Given the description of an element on the screen output the (x, y) to click on. 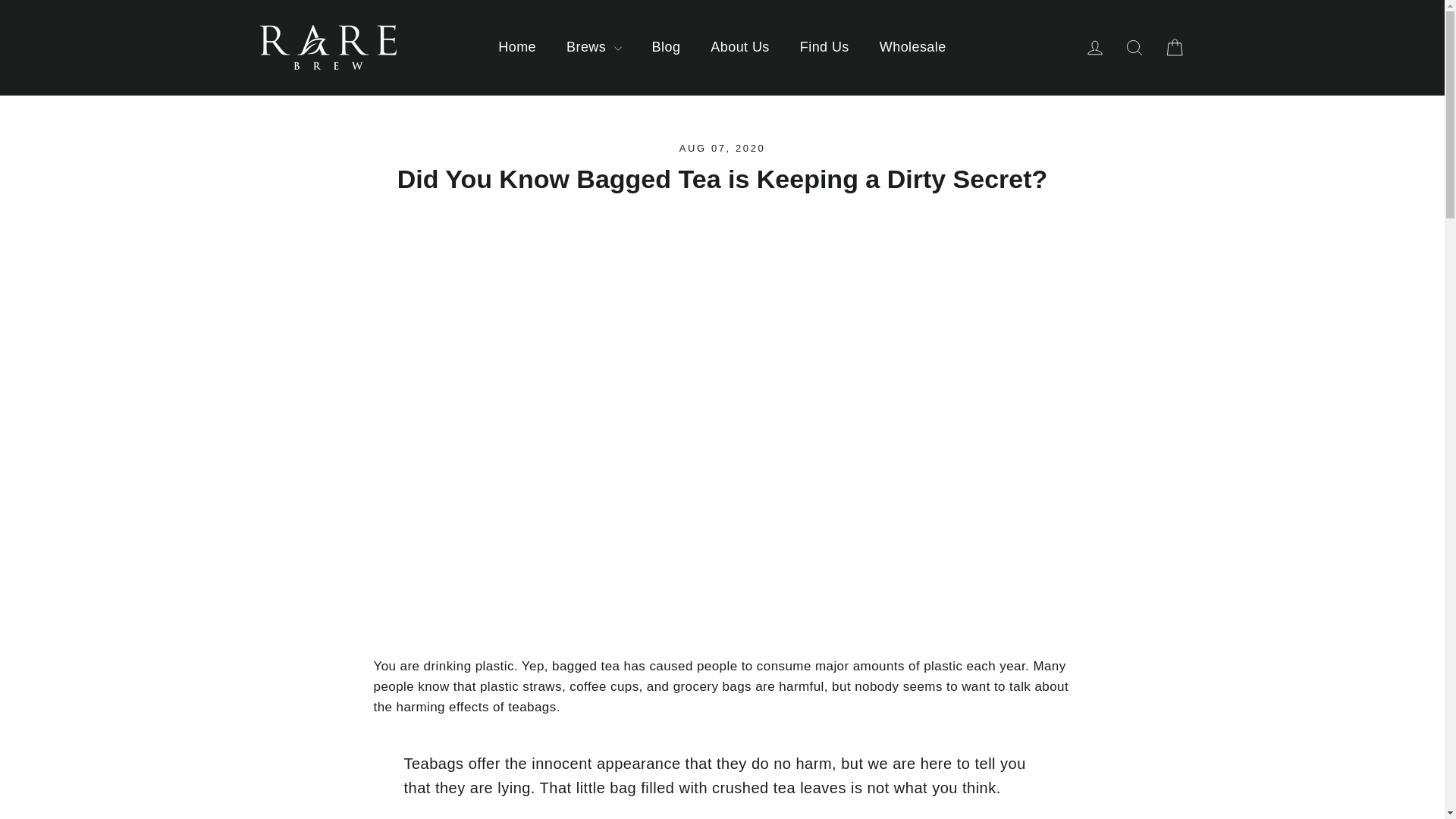
Find Us (824, 47)
Search (1134, 47)
Wholesale (912, 47)
Log in (1095, 47)
Blog (666, 47)
Home (517, 47)
About Us (739, 47)
Brews (594, 47)
